Given the description of an element on the screen output the (x, y) to click on. 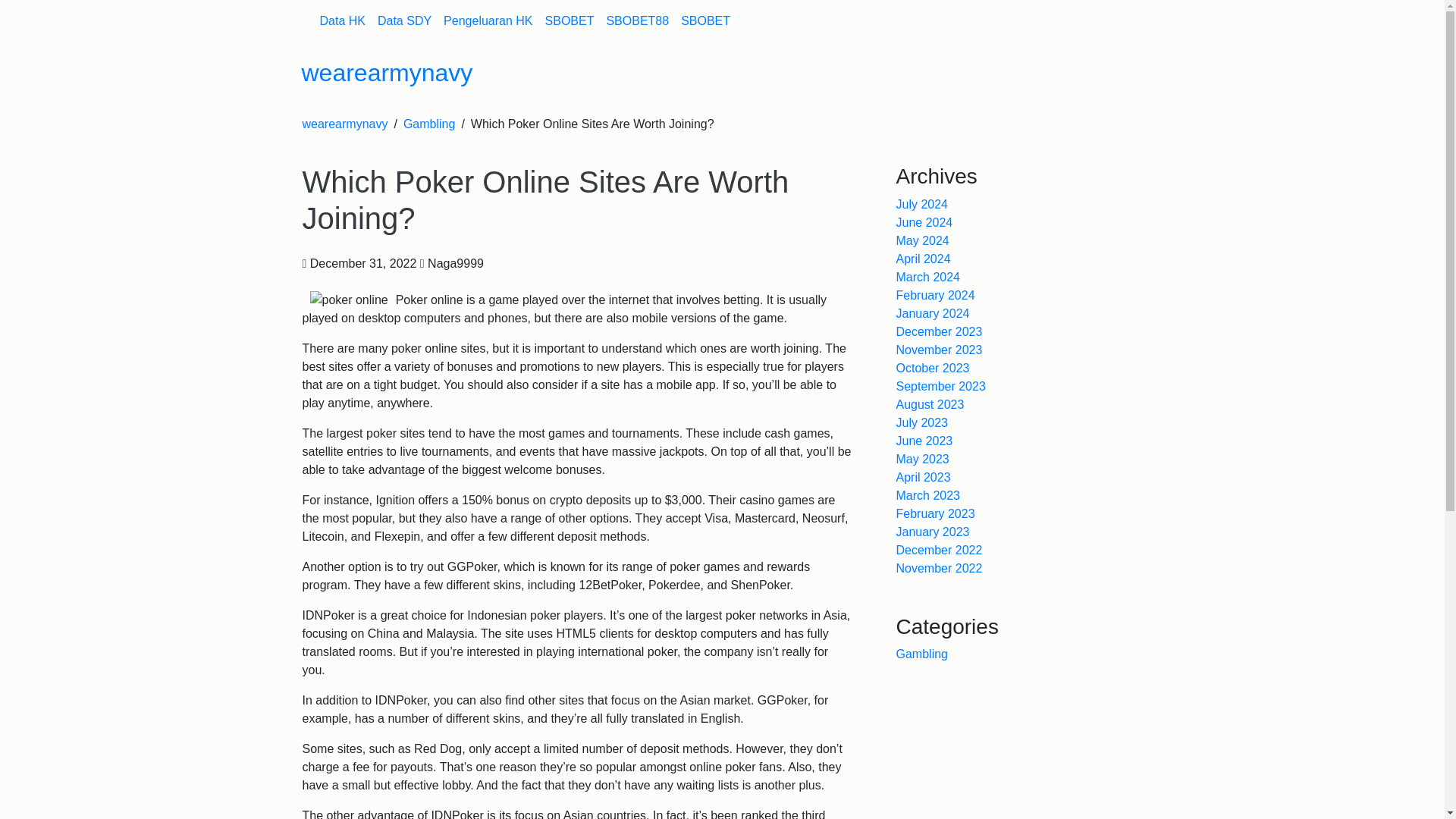
December 2023 (939, 331)
January 2024 (932, 313)
Data SDY (404, 20)
May 2023 (922, 459)
July 2024 (922, 204)
April 2023 (923, 477)
February 2024 (935, 295)
April 2024 (923, 258)
October 2023 (932, 367)
May 2024 (922, 240)
March 2023 (928, 495)
Data SDY (404, 20)
Pengeluaran HK (488, 20)
November 2023 (939, 349)
July 2023 (922, 422)
